Given the description of an element on the screen output the (x, y) to click on. 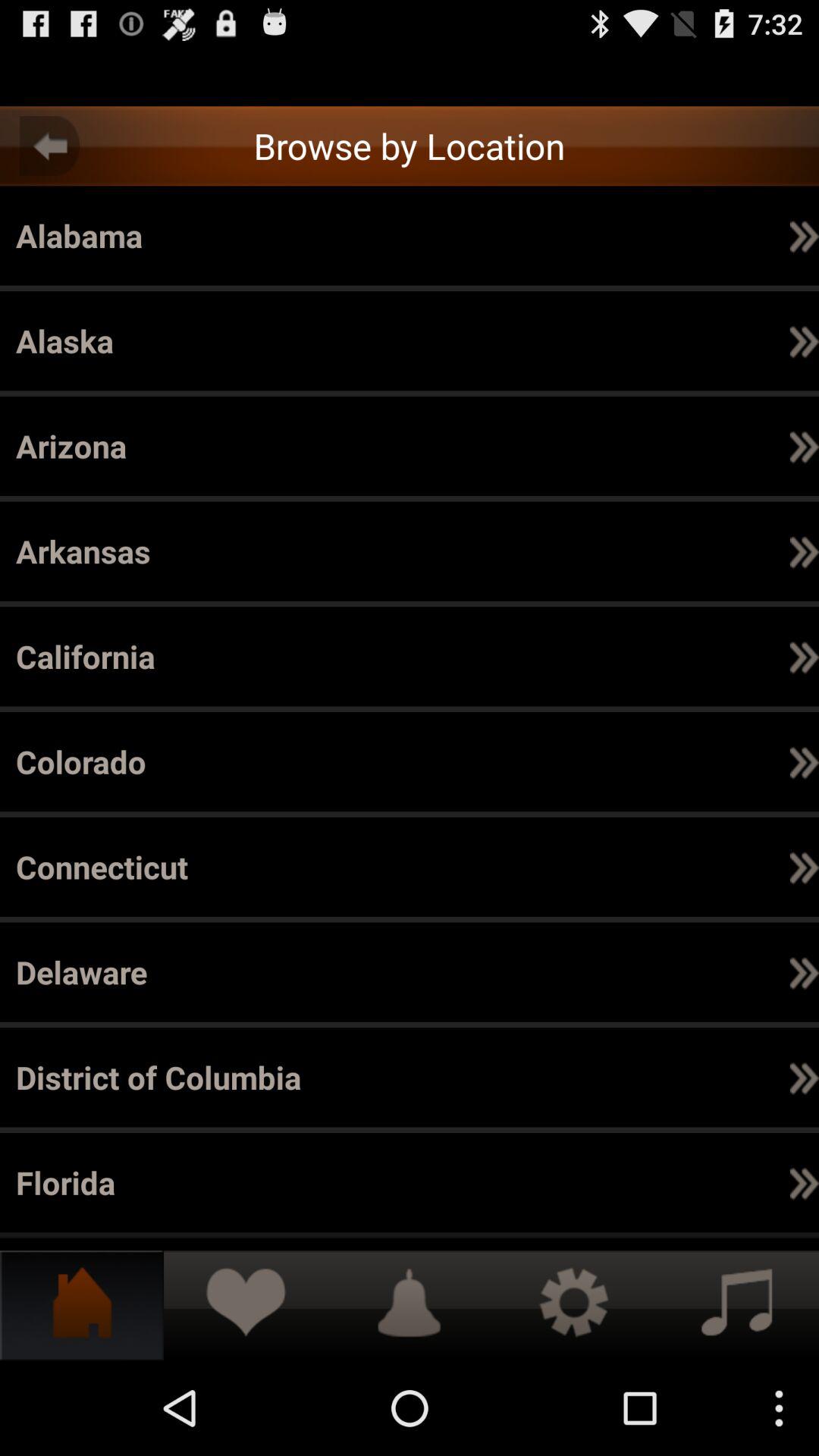
select icon below the california item (804, 235)
